Given the description of an element on the screen output the (x, y) to click on. 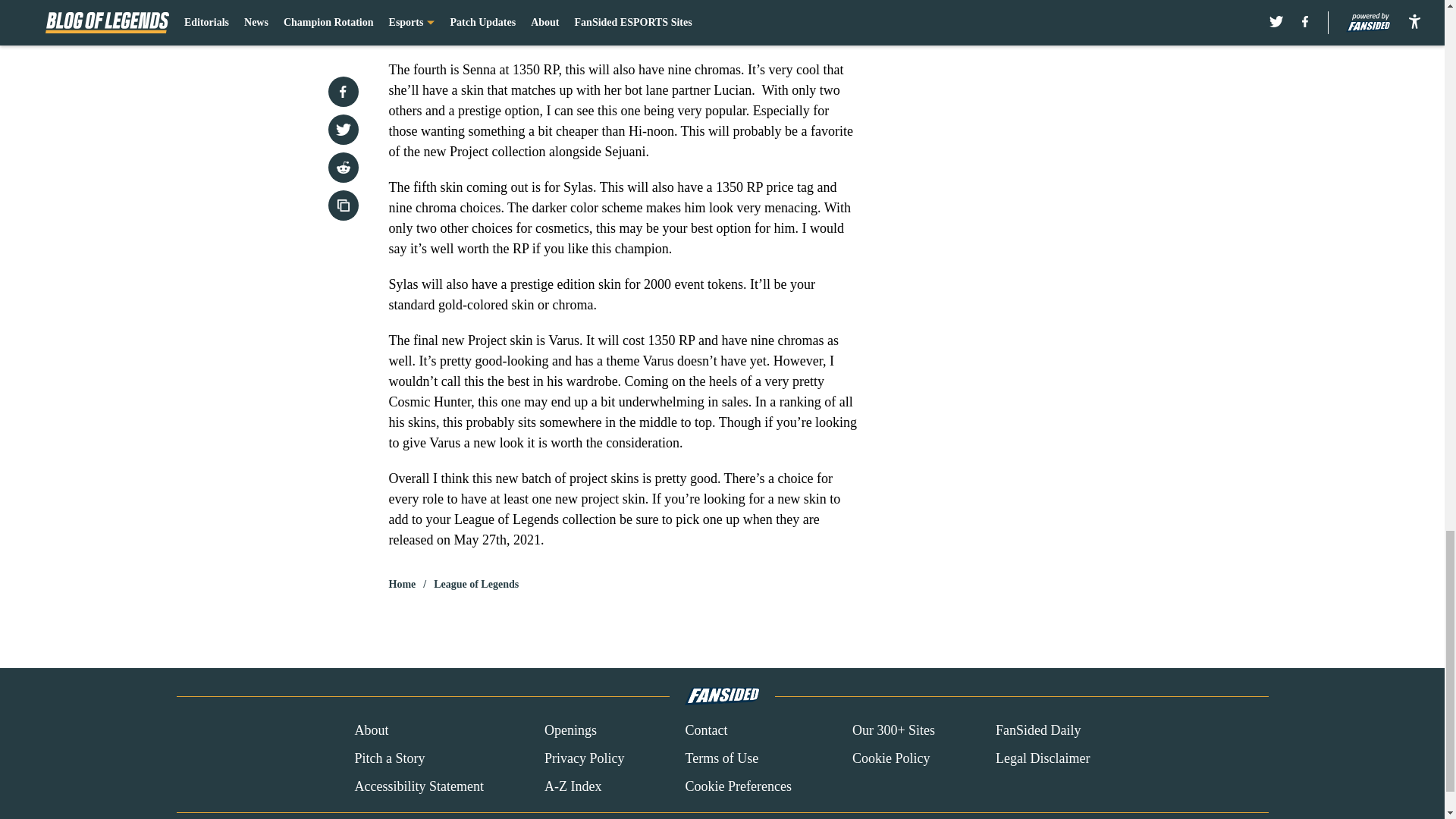
Cookie Policy (890, 758)
League of Legends (475, 584)
Legal Disclaimer (1042, 758)
Terms of Use (721, 758)
Openings (570, 730)
Contact (705, 730)
Privacy Policy (584, 758)
FanSided Daily (1038, 730)
About (370, 730)
A-Z Index (572, 786)
